Given the description of an element on the screen output the (x, y) to click on. 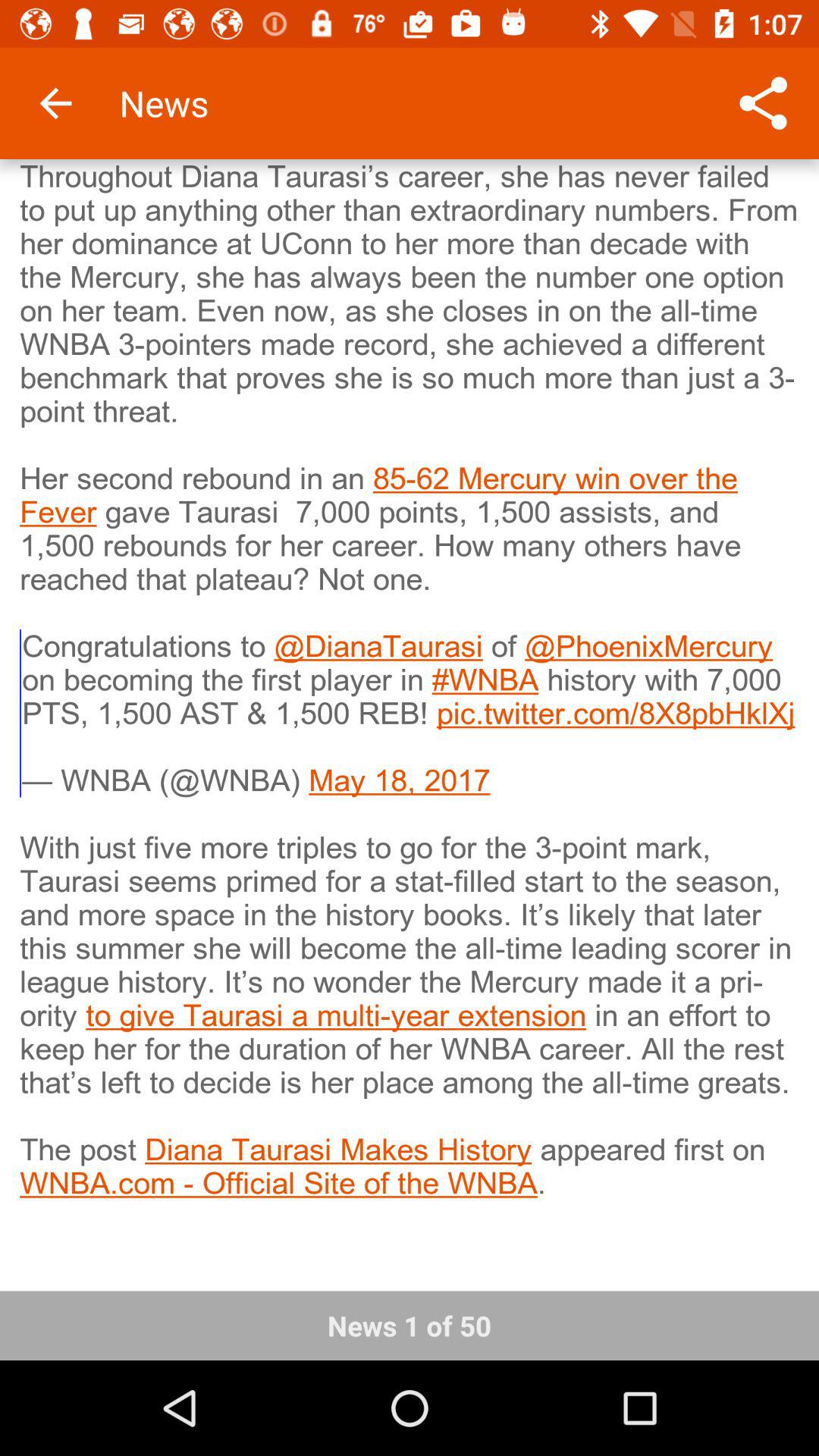
launch the item above the news 1 of (409, 715)
